Given the description of an element on the screen output the (x, y) to click on. 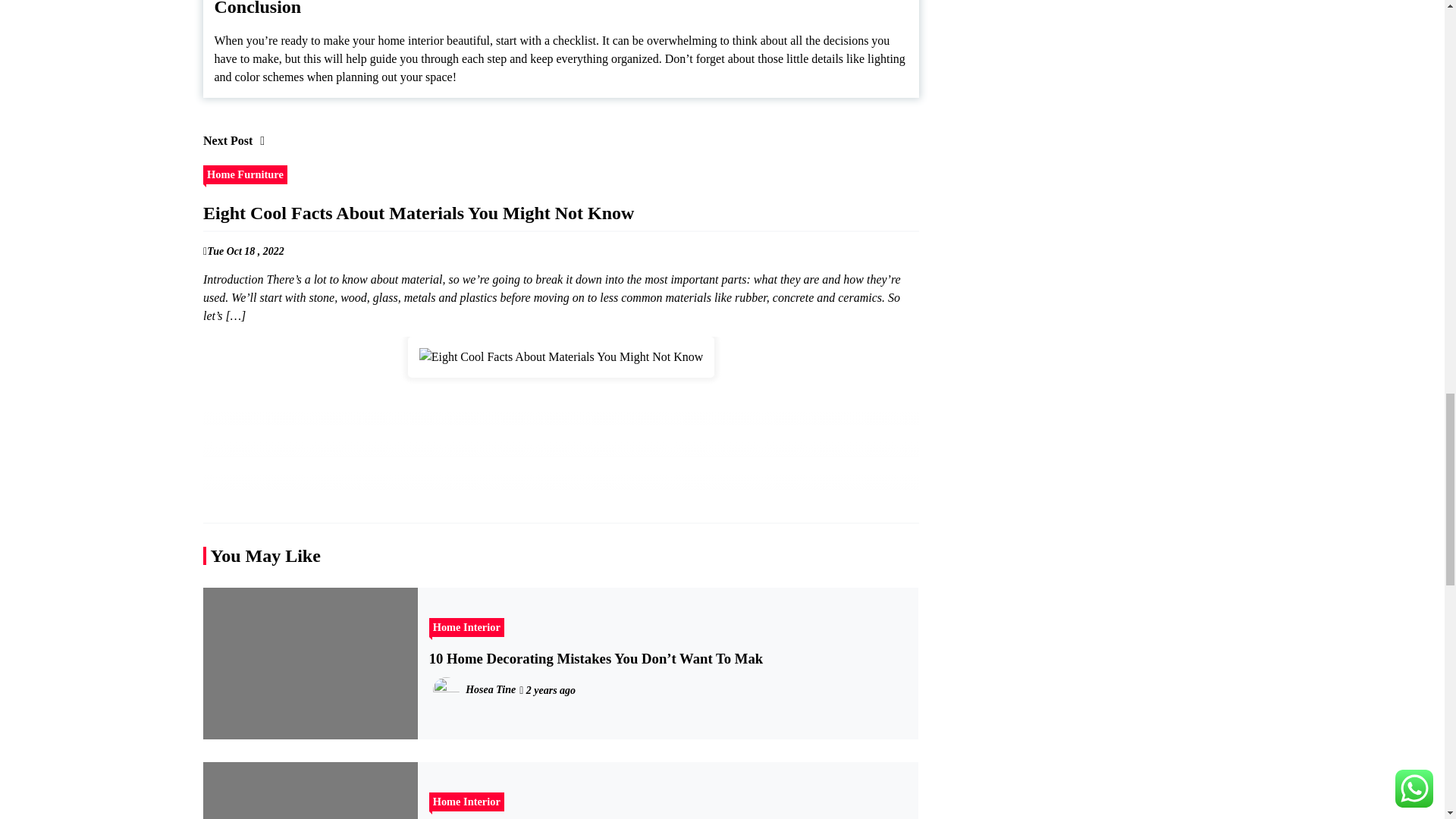
Eight Cool Facts About Materials You Might Not Know (560, 356)
